Given the description of an element on the screen output the (x, y) to click on. 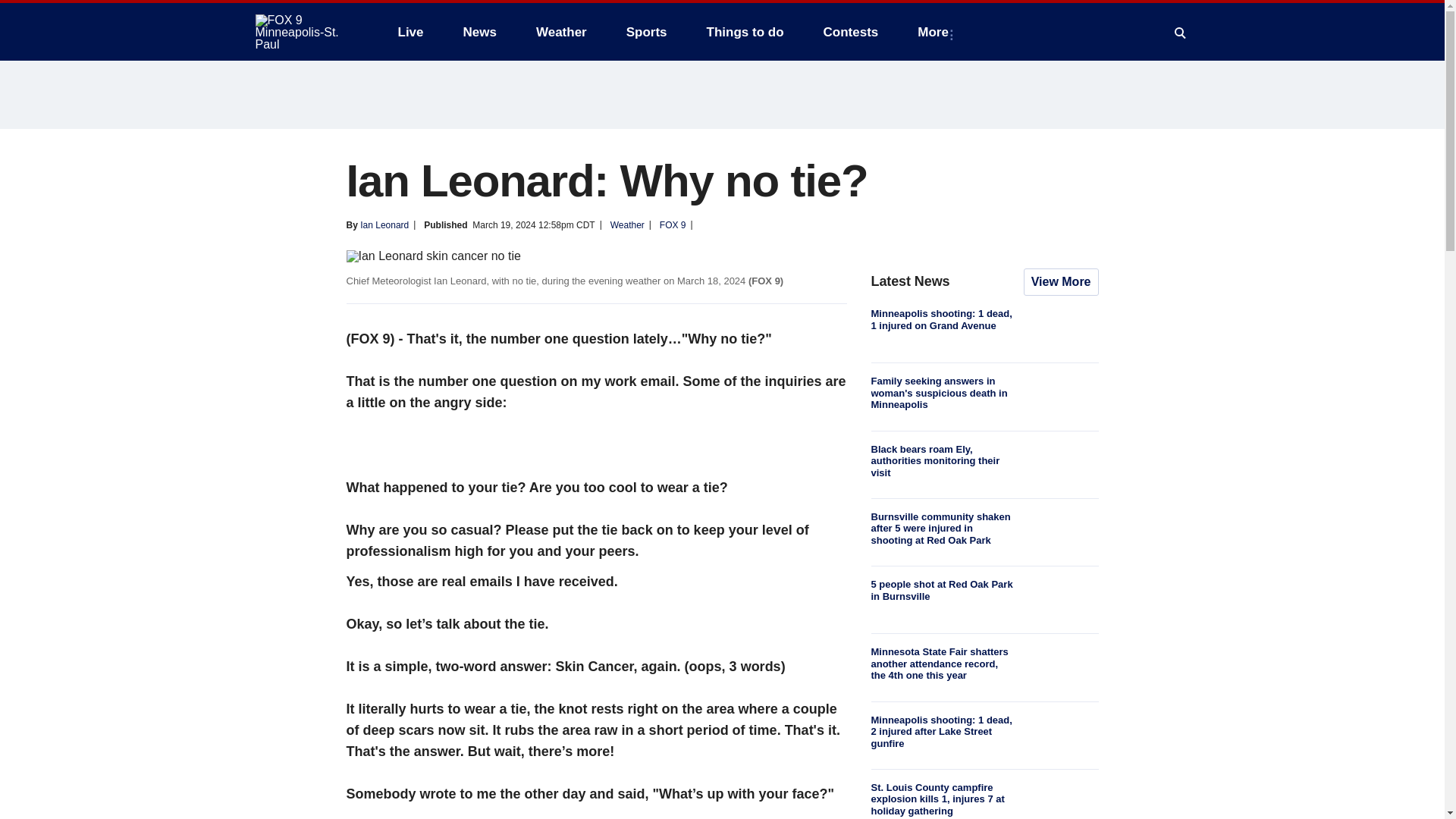
Weather (561, 32)
News (479, 32)
More (935, 32)
Live (410, 32)
Contests (850, 32)
Sports (646, 32)
Things to do (745, 32)
